Given the description of an element on the screen output the (x, y) to click on. 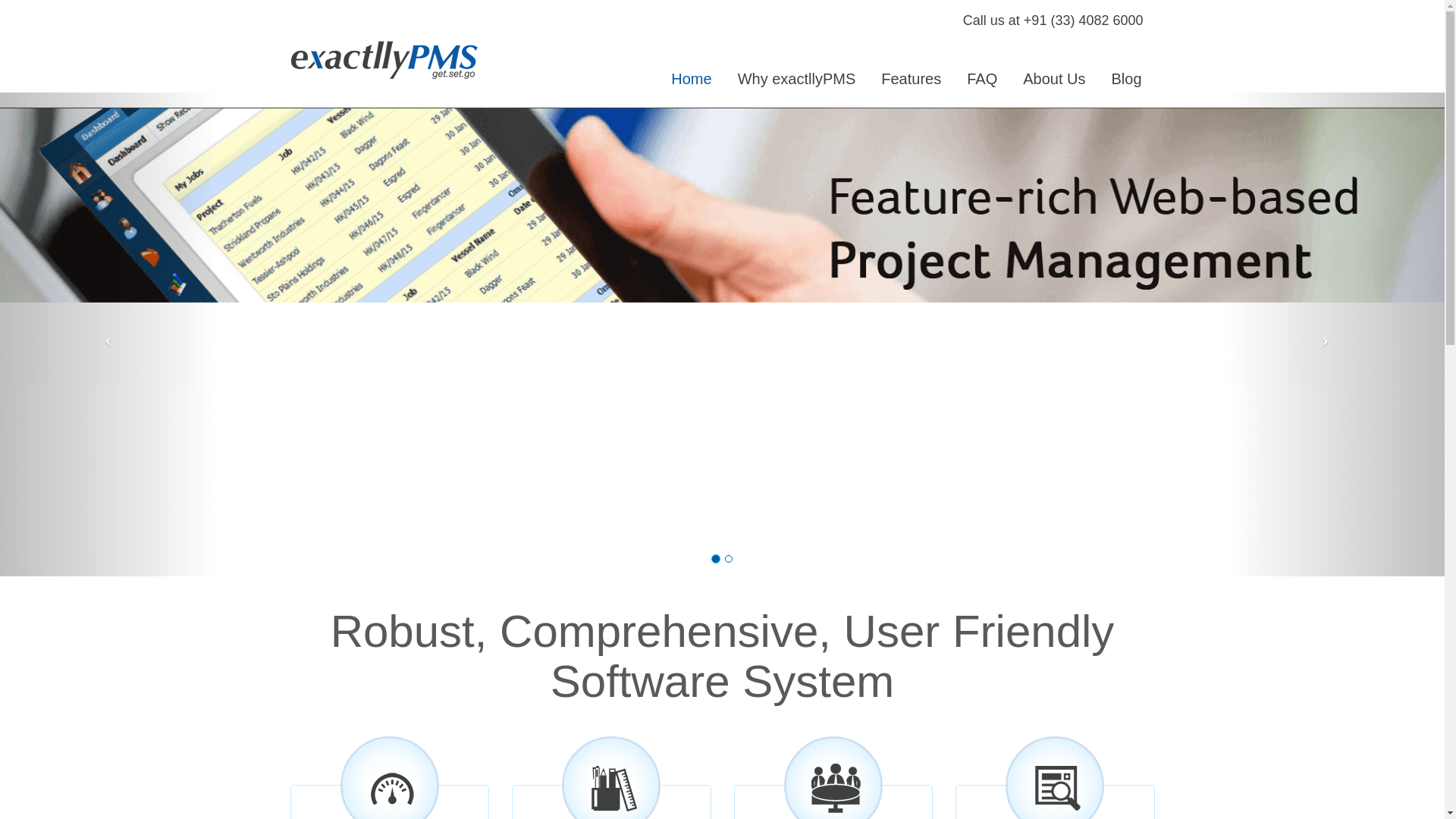
Features (910, 78)
Why exactllyPMS (797, 78)
About Us (1053, 78)
aboutus (1053, 78)
aboutus (981, 78)
aboutus (910, 78)
Blog (1125, 78)
FAQ (981, 78)
Home (690, 78)
aboutus (1125, 78)
Why exactllyPMS (797, 78)
exactllyPMS Logo (389, 59)
Home (690, 78)
